Given the description of an element on the screen output the (x, y) to click on. 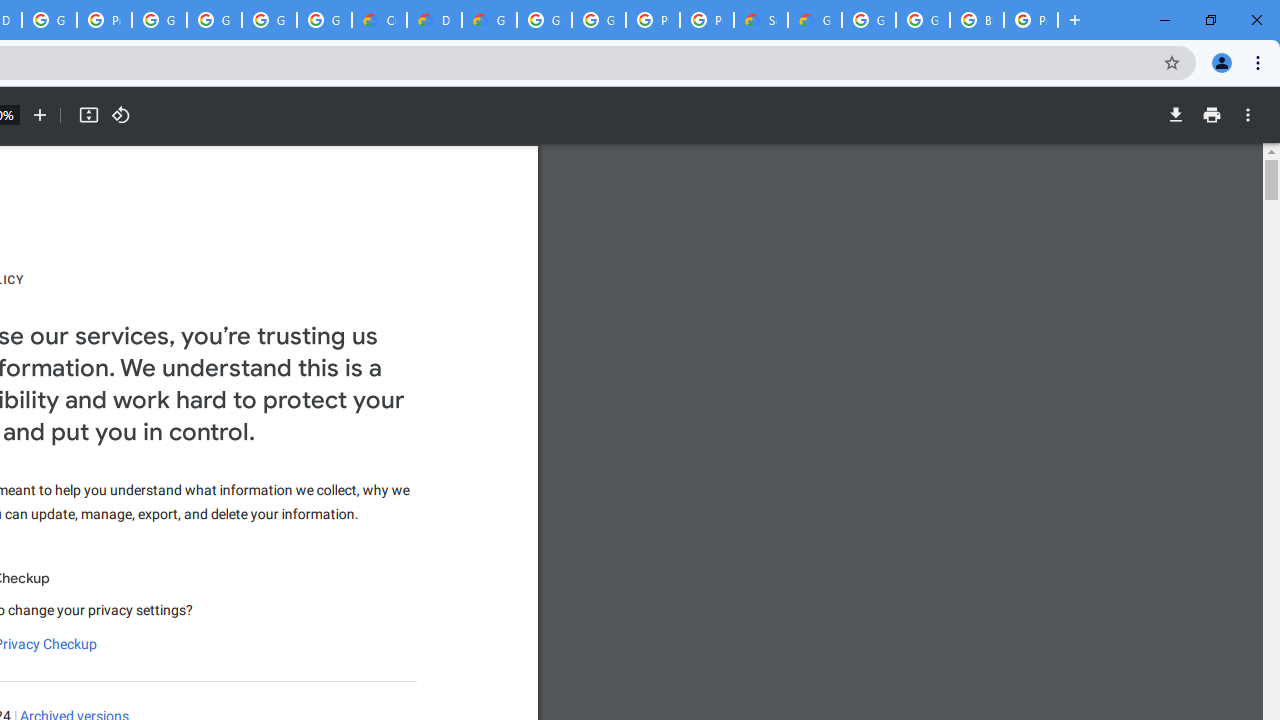
Support Hub | Google Cloud (760, 20)
Zoom in (39, 115)
Google Workspace - Specific Terms (324, 20)
Google Cloud Service Health (815, 20)
Gemini for Business and Developers | Google Cloud (489, 20)
Google Cloud Platform (544, 20)
Google Cloud Platform (868, 20)
